Given the description of an element on the screen output the (x, y) to click on. 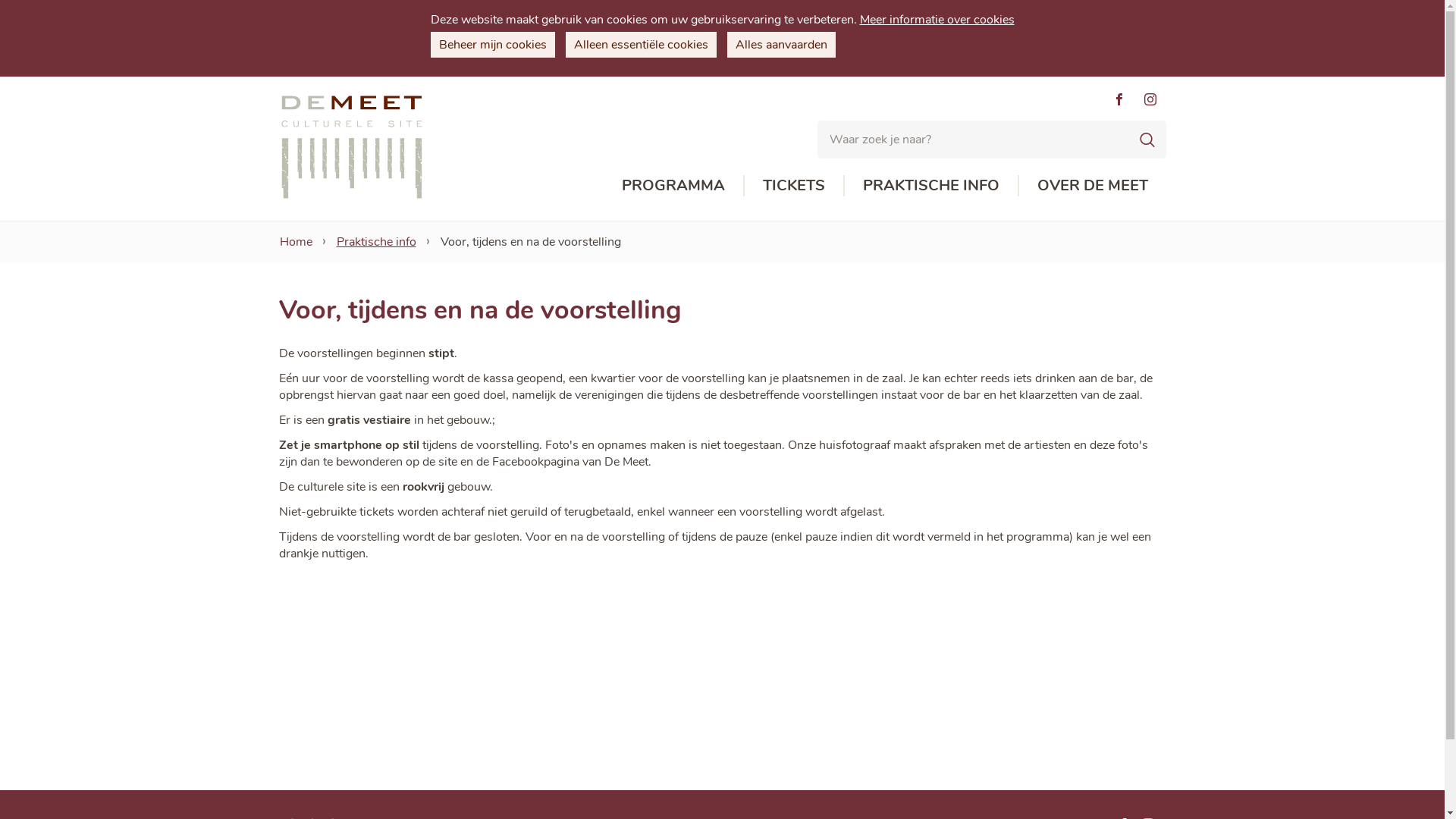
Praktische info Element type: text (375, 242)
PRAKTISCHE INFO Element type: text (930, 184)
OVER DE MEET Element type: text (1092, 184)
Volg ons op Instagram Element type: text (1150, 99)
Alles aanvaarden Element type: text (780, 44)
Meer informatie over cookies Element type: text (936, 19)
Naar inhoud Element type: text (721, 75)
Zoeken Element type: text (1147, 138)
PROGRAMMA Element type: text (673, 184)
TICKETS Element type: text (793, 184)
Beheer mijn cookies Element type: text (492, 44)
Volg ons op Facebook Element type: text (1118, 99)
Home Element type: text (296, 242)
CC De Meet Element type: text (351, 147)
